Given the description of an element on the screen output the (x, y) to click on. 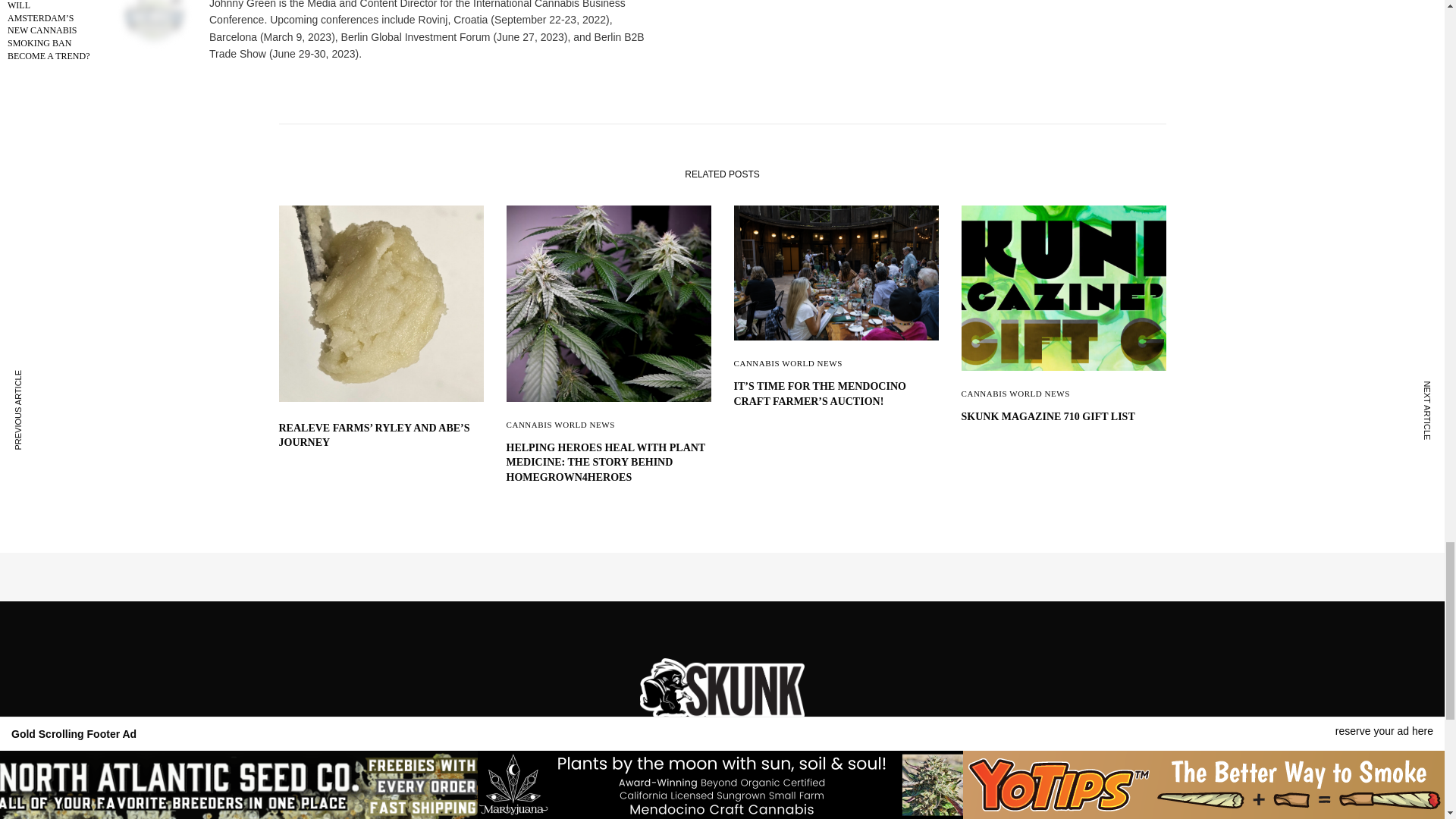
SKUNK Magazine 710 Gift List (1063, 417)
Skunk Global (722, 688)
